Given the description of an element on the screen output the (x, y) to click on. 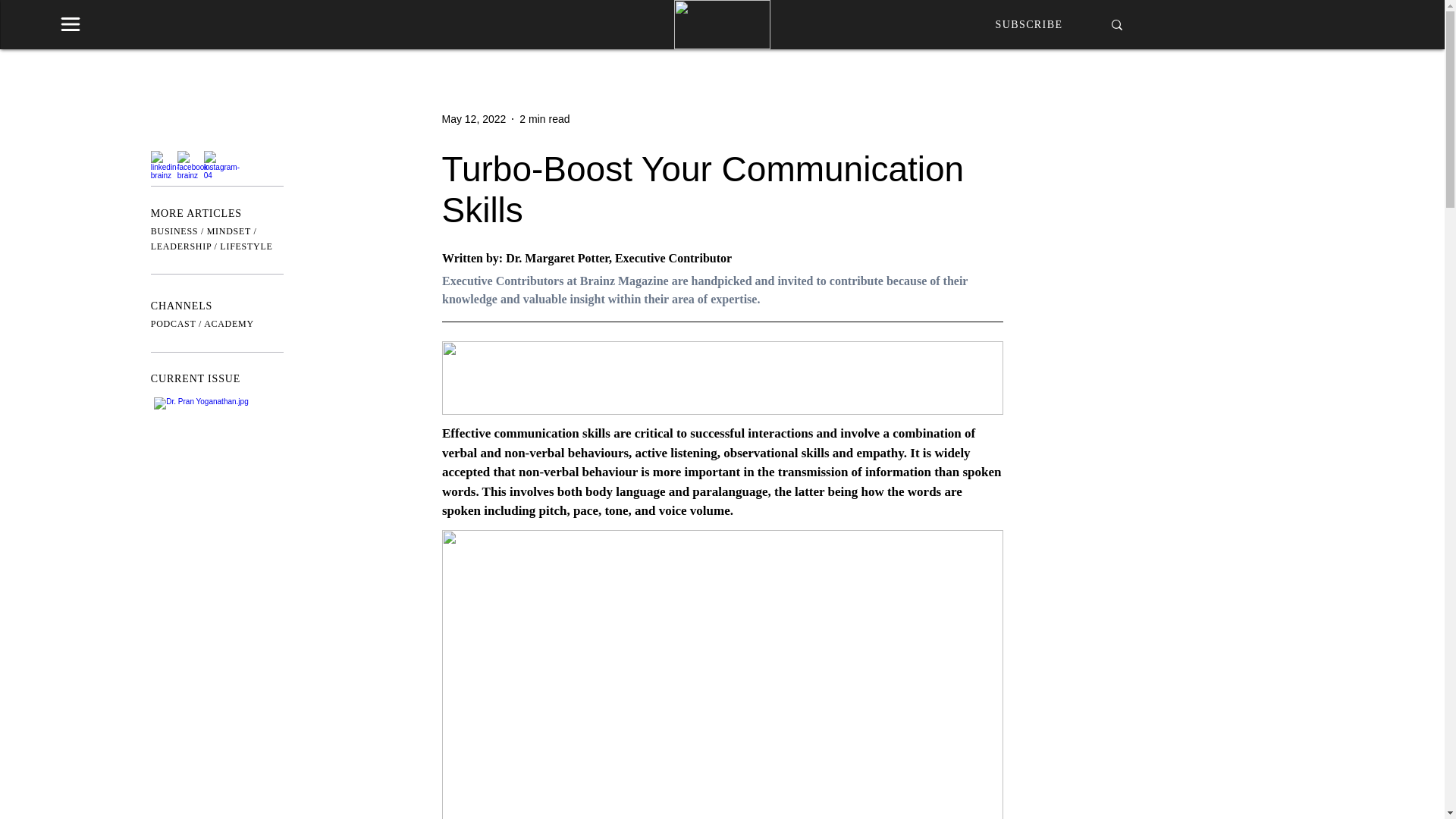
MORE ARTICLES (196, 213)
MINDSET (228, 231)
SUBSCRIBE (1028, 23)
LEADERSHIP (181, 245)
BUSINESS (174, 231)
LIFESTYLE (245, 245)
ACADEMY (228, 323)
2 min read (544, 118)
PODCAST (173, 323)
May 12, 2022 (473, 118)
